Given the description of an element on the screen output the (x, y) to click on. 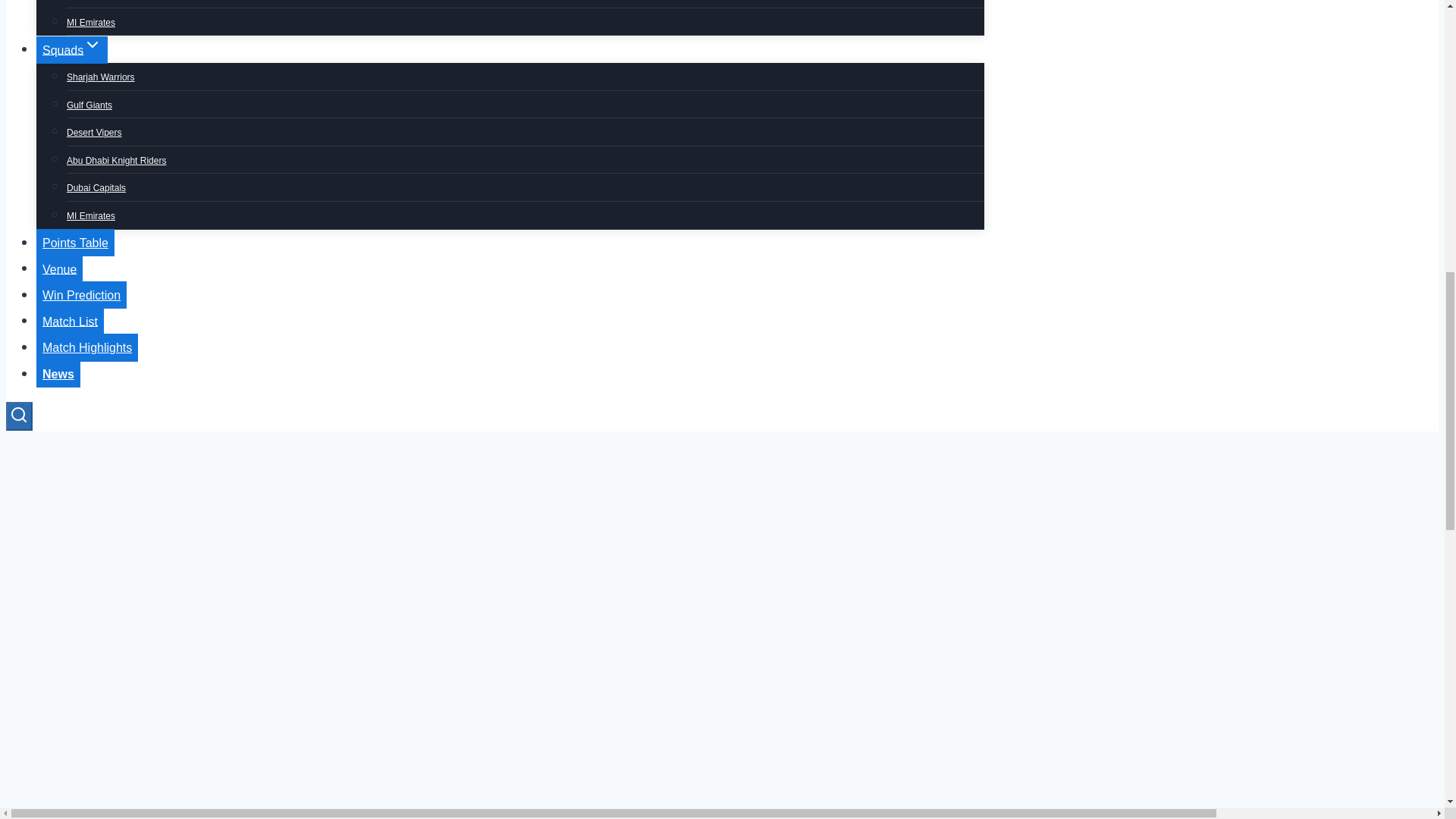
MI Emirates (90, 215)
Win Prediction (81, 294)
News (58, 373)
Expand (91, 45)
Venue (59, 268)
Match List (69, 320)
Sharjah Warriors (100, 77)
MI Emirates (90, 22)
Search (18, 416)
Search (18, 414)
SquadsExpand (71, 49)
Match Highlights (87, 347)
Abu Dhabi Knight Riders (115, 160)
Dubai Capitals (95, 187)
Points Table (75, 242)
